Given the description of an element on the screen output the (x, y) to click on. 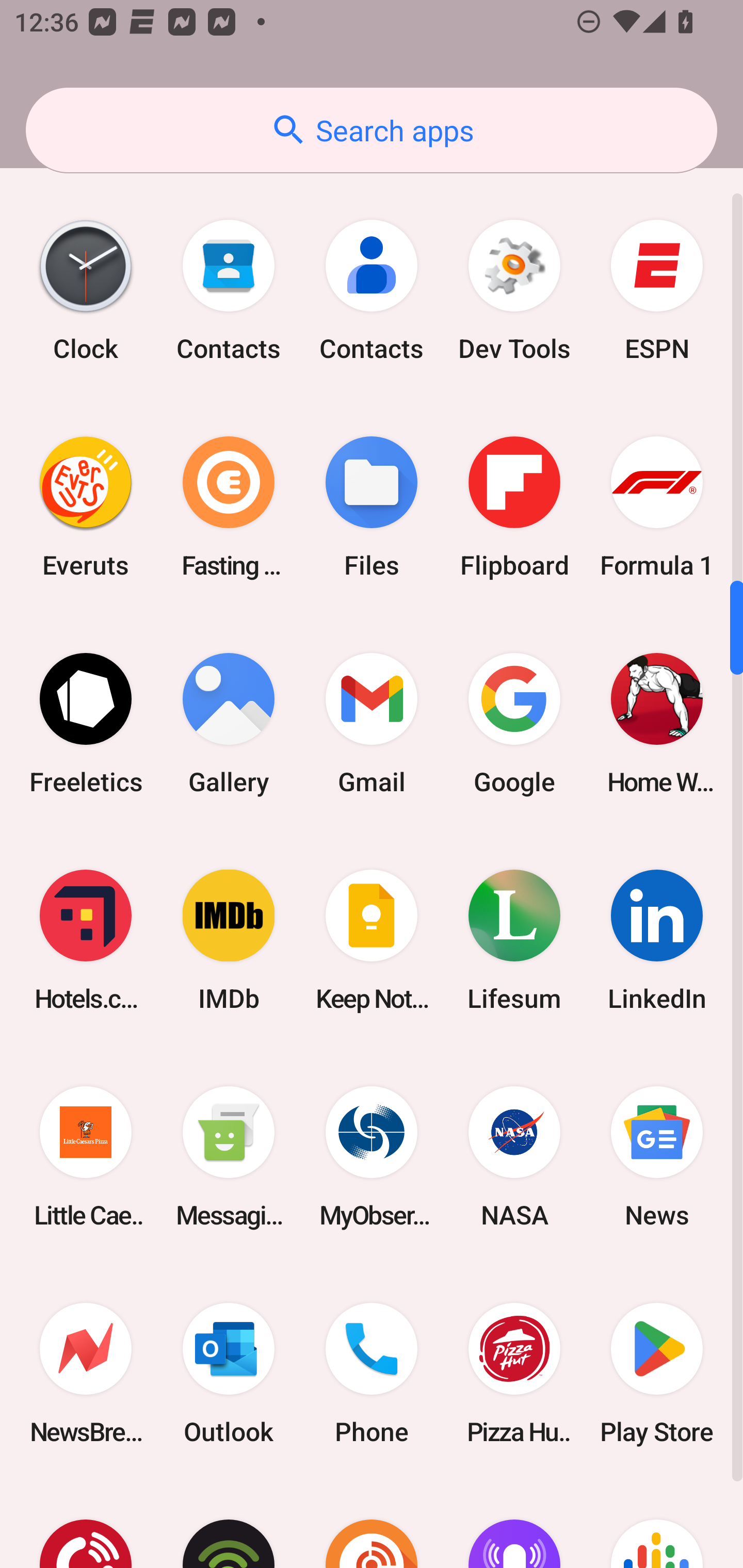
  Search apps (371, 130)
Clock (85, 289)
Contacts (228, 289)
Contacts (371, 289)
Dev Tools (514, 289)
ESPN (656, 289)
Everuts (85, 506)
Fasting Coach (228, 506)
Files (371, 506)
Flipboard (514, 506)
Formula 1 (656, 506)
Freeletics (85, 723)
Gallery (228, 723)
Gmail (371, 723)
Google (514, 723)
Home Workout (656, 723)
Hotels.com (85, 940)
IMDb (228, 940)
Keep Notes (371, 940)
Lifesum (514, 940)
LinkedIn (656, 940)
Little Caesars Pizza (85, 1156)
Messaging (228, 1156)
MyObservatory (371, 1156)
NASA (514, 1156)
News (656, 1156)
NewsBreak (85, 1373)
Outlook (228, 1373)
Phone (371, 1373)
Pizza Hut HK & Macau (514, 1373)
Play Store (656, 1373)
